Given the description of an element on the screen output the (x, y) to click on. 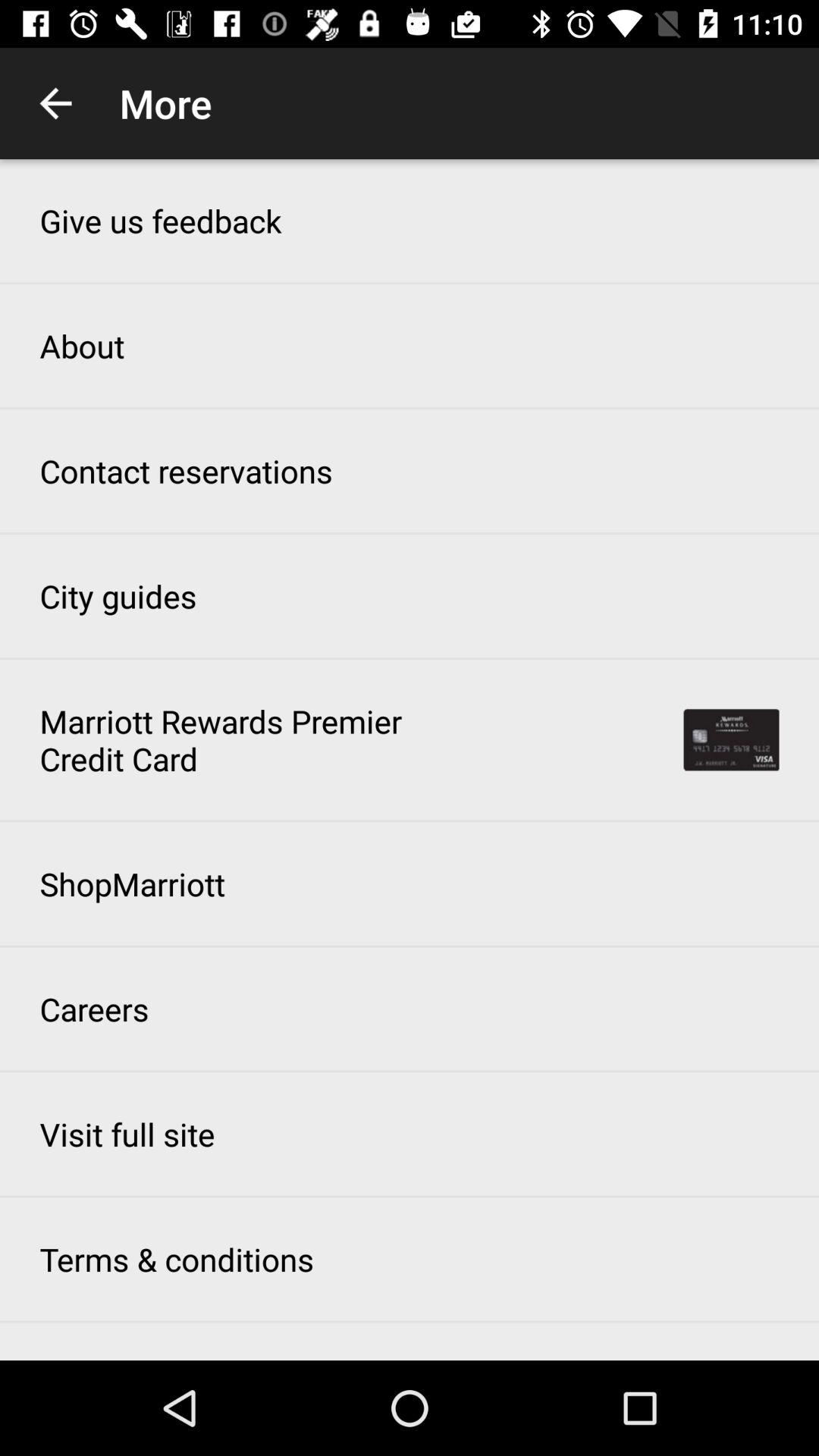
flip to the city guides item (117, 595)
